Given the description of an element on the screen output the (x, y) to click on. 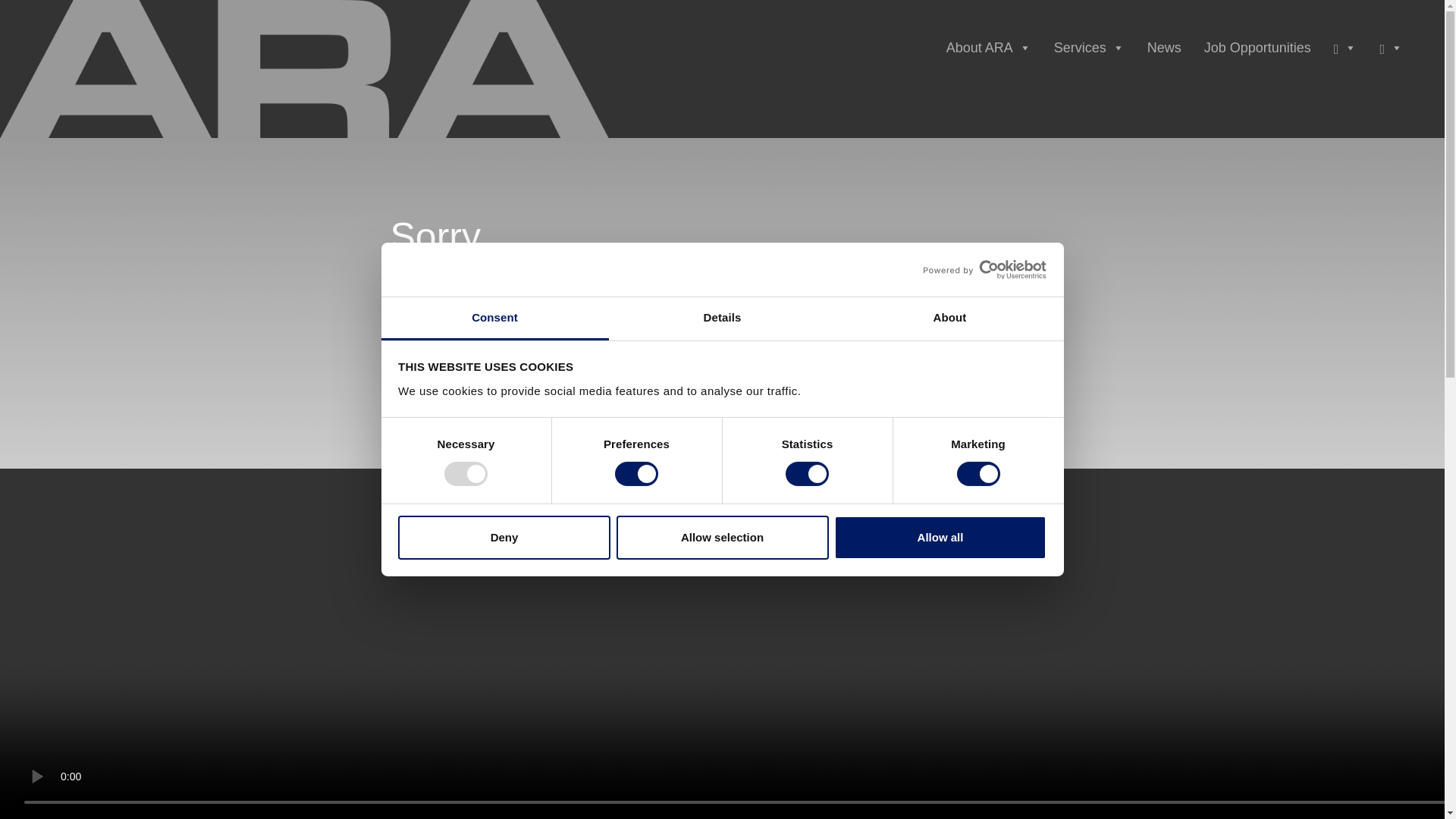
Allow selection (721, 537)
Deny (503, 537)
Allow all (940, 537)
Consent (494, 318)
About (948, 318)
Details (721, 318)
